Given the description of an element on the screen output the (x, y) to click on. 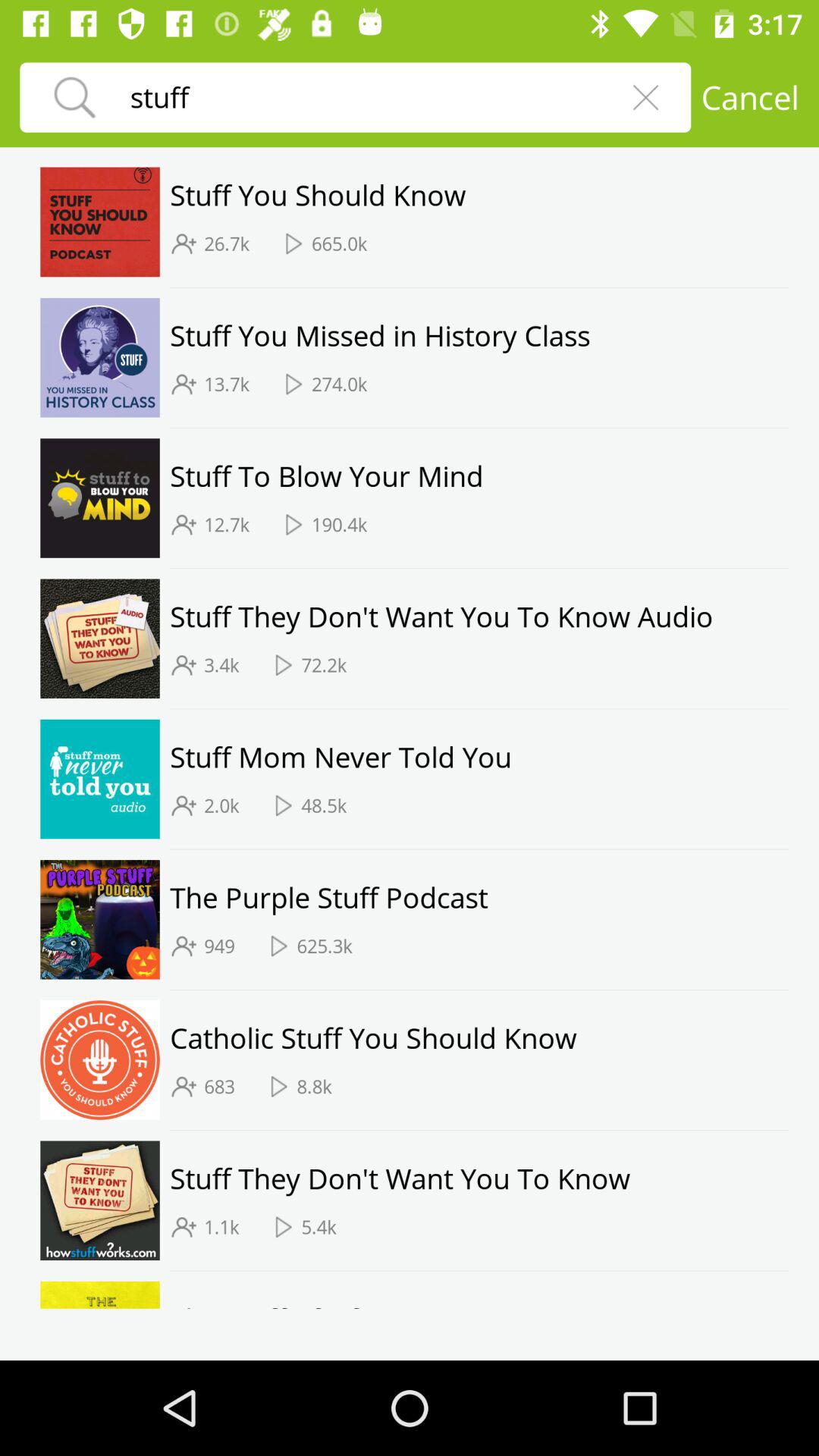
clear current search (645, 97)
